Given the description of an element on the screen output the (x, y) to click on. 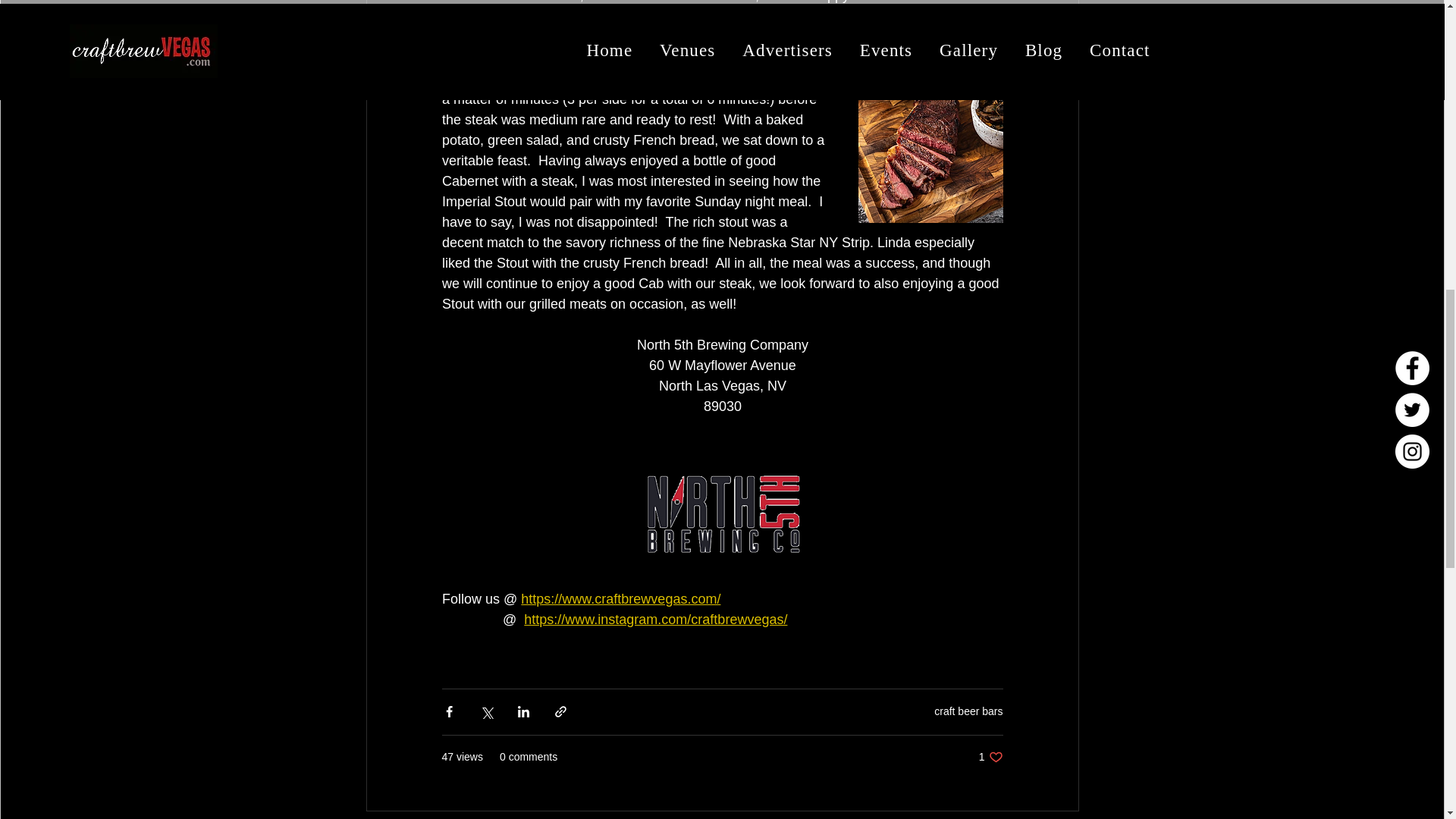
craft beer bars (990, 757)
